Given the description of an element on the screen output the (x, y) to click on. 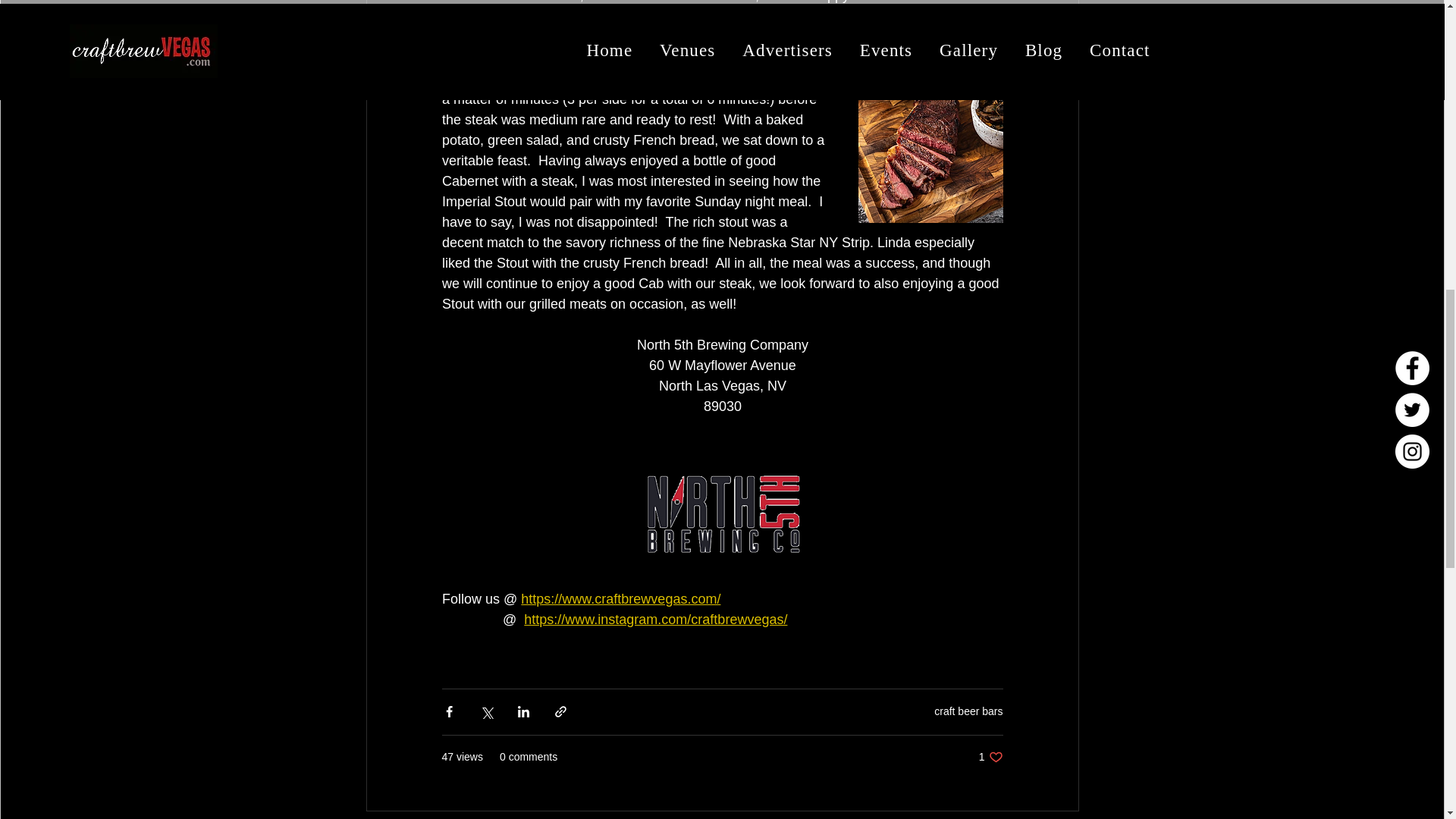
craft beer bars (990, 757)
